Given the description of an element on the screen output the (x, y) to click on. 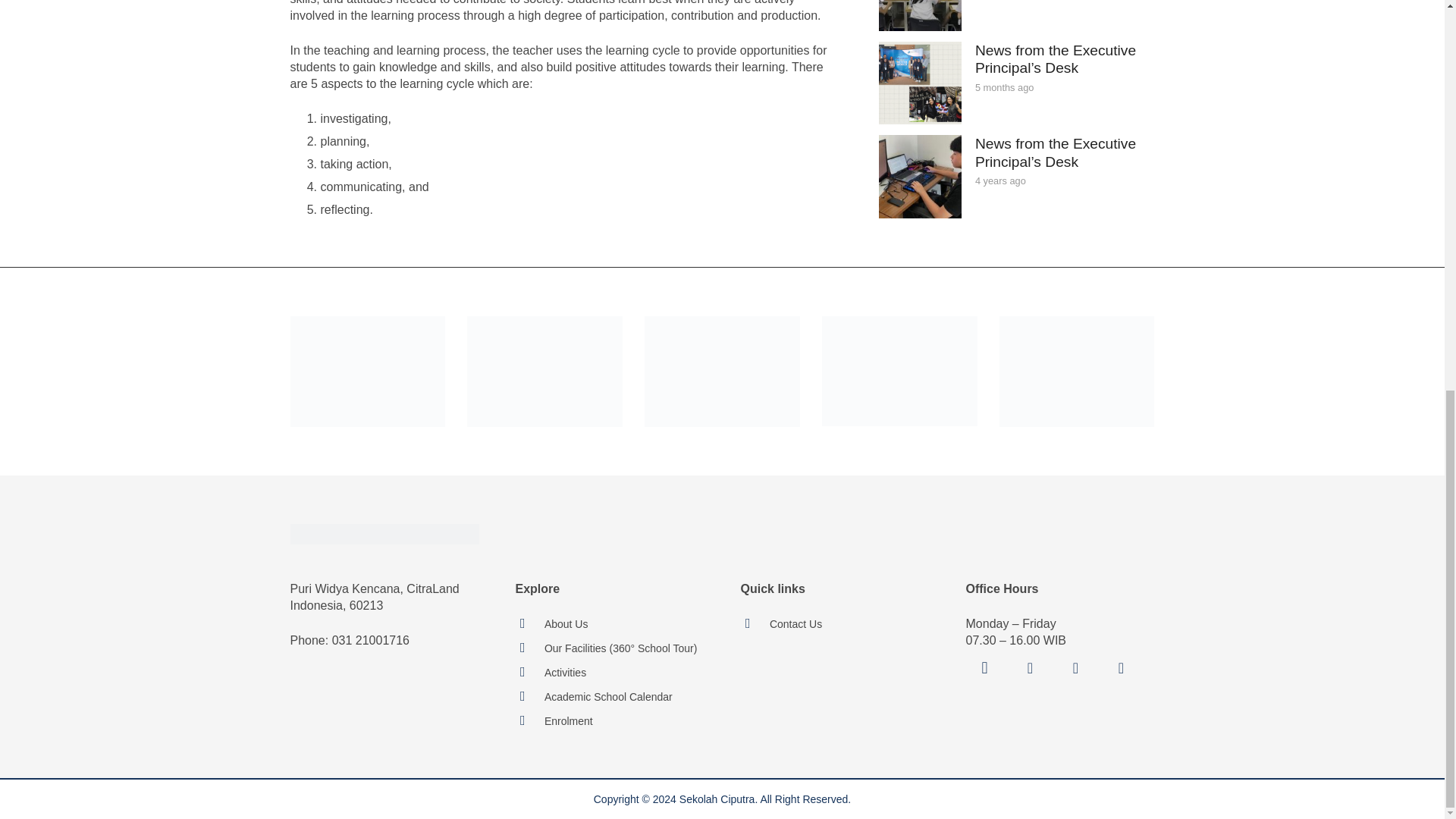
YouTube (1075, 668)
Back to top (1413, 99)
Instagram (985, 668)
Facebook (1030, 668)
LinkedIn (1121, 668)
